Given the description of an element on the screen output the (x, y) to click on. 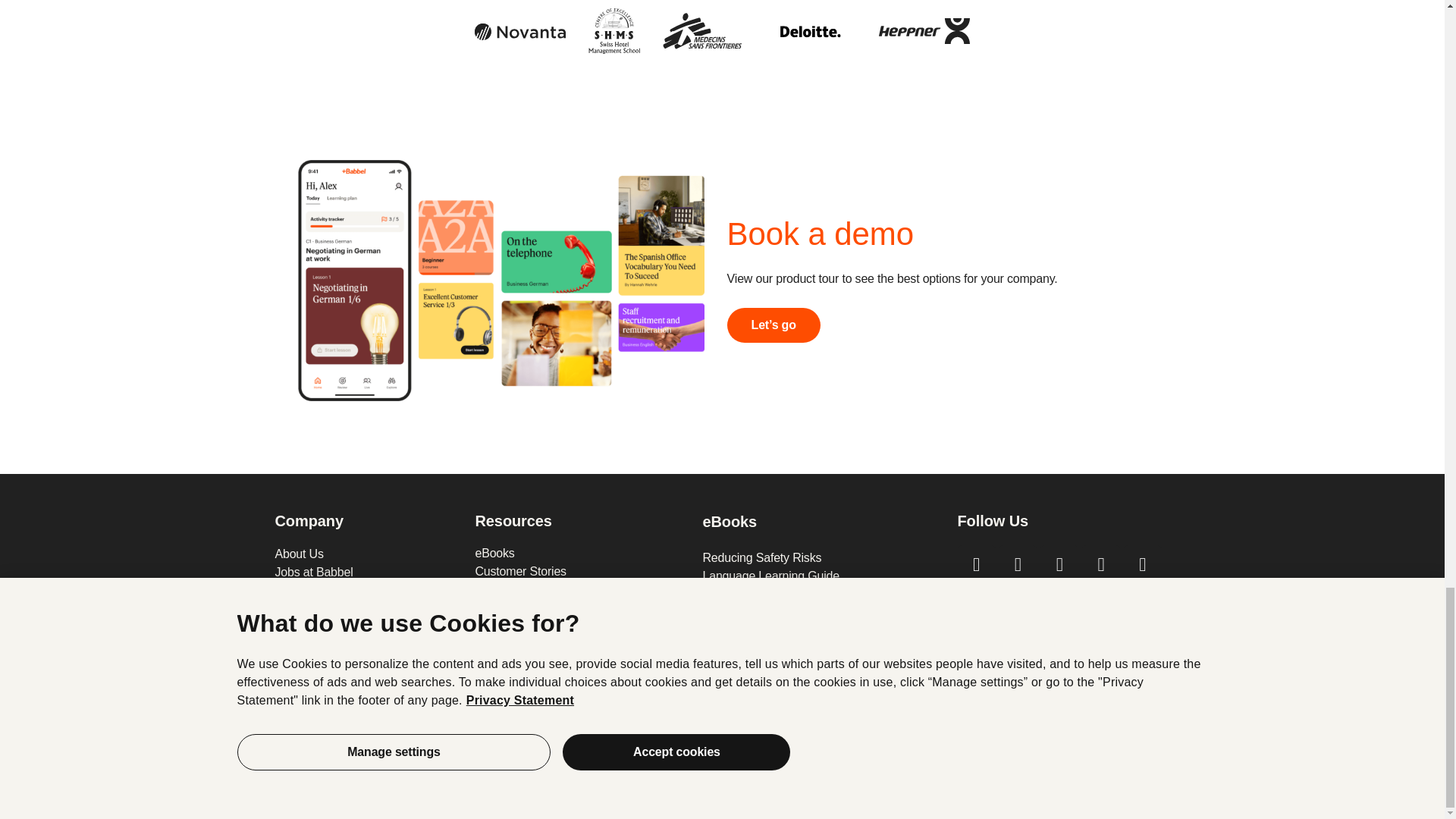
FAQ (580, 589)
eBooks (580, 553)
About Us (367, 553)
Customer Stories (580, 571)
Language Learning Guide (821, 575)
Language Learning for Safety (580, 662)
Corporate Language Training (580, 625)
Contact Us (367, 590)
Reducing Safety Risks (821, 557)
Spanish for Business (580, 643)
English Training for Companies (580, 607)
Jobs at Babbel (367, 571)
